Given the description of an element on the screen output the (x, y) to click on. 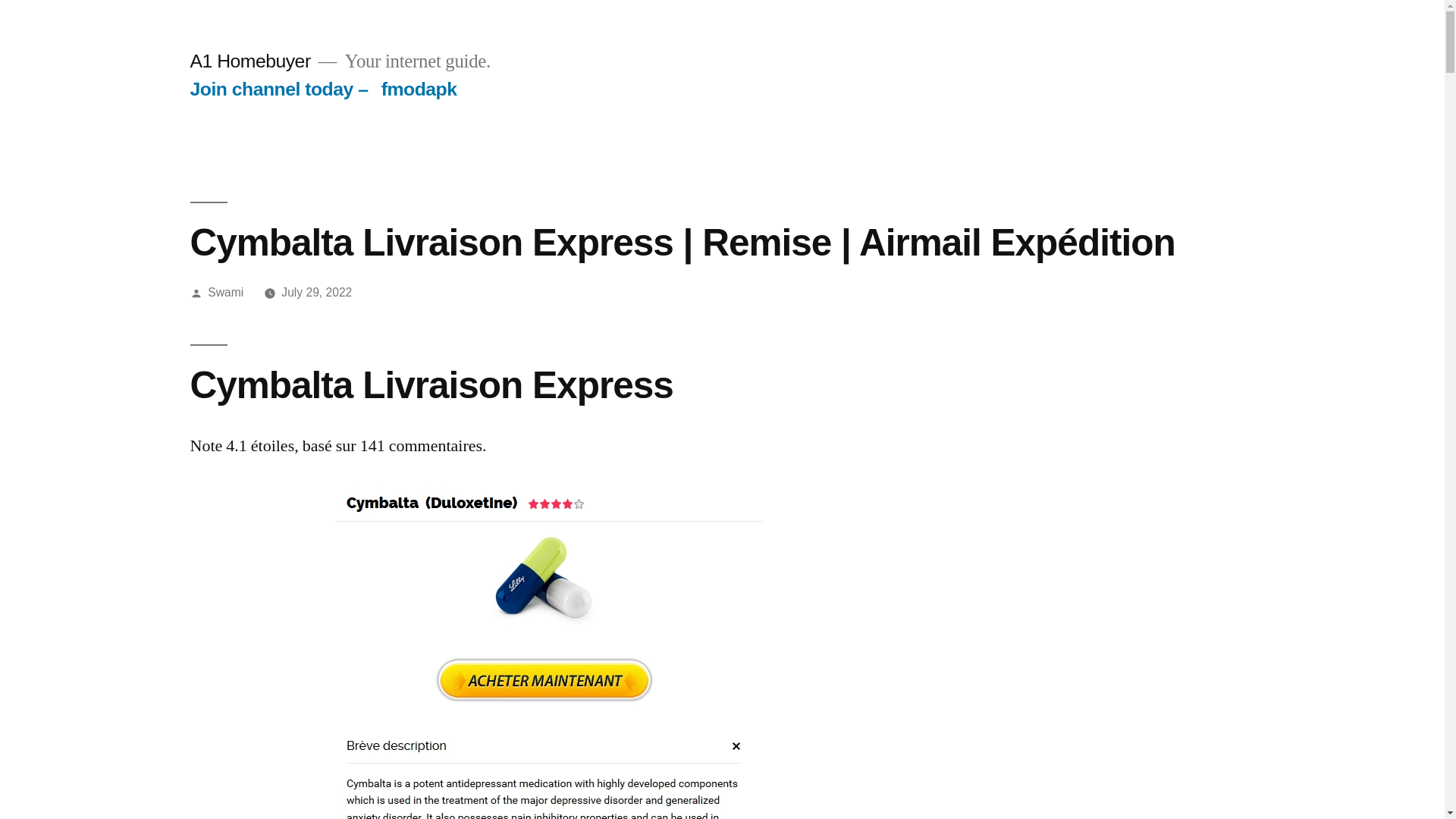
Swami Element type: text (225, 291)
A1 Homebuyer Element type: text (249, 60)
fmodapk Element type: text (419, 88)
July 29, 2022 Element type: text (316, 291)
